Given the description of an element on the screen output the (x, y) to click on. 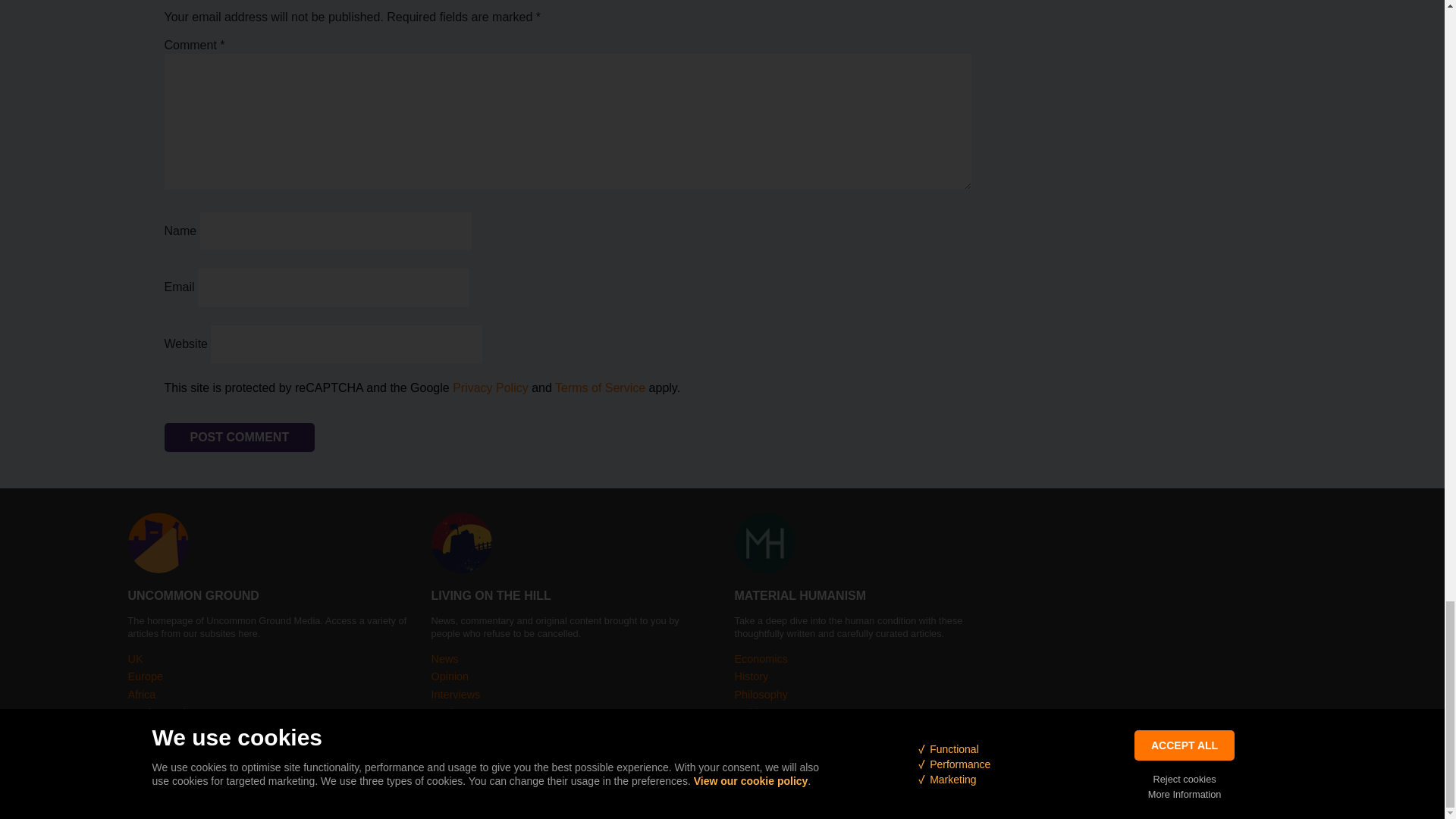
Post Comment (238, 437)
Terms of Service (599, 387)
Perlemedia (858, 802)
Privacy Policy (490, 387)
Post Comment (238, 437)
